Given the description of an element on the screen output the (x, y) to click on. 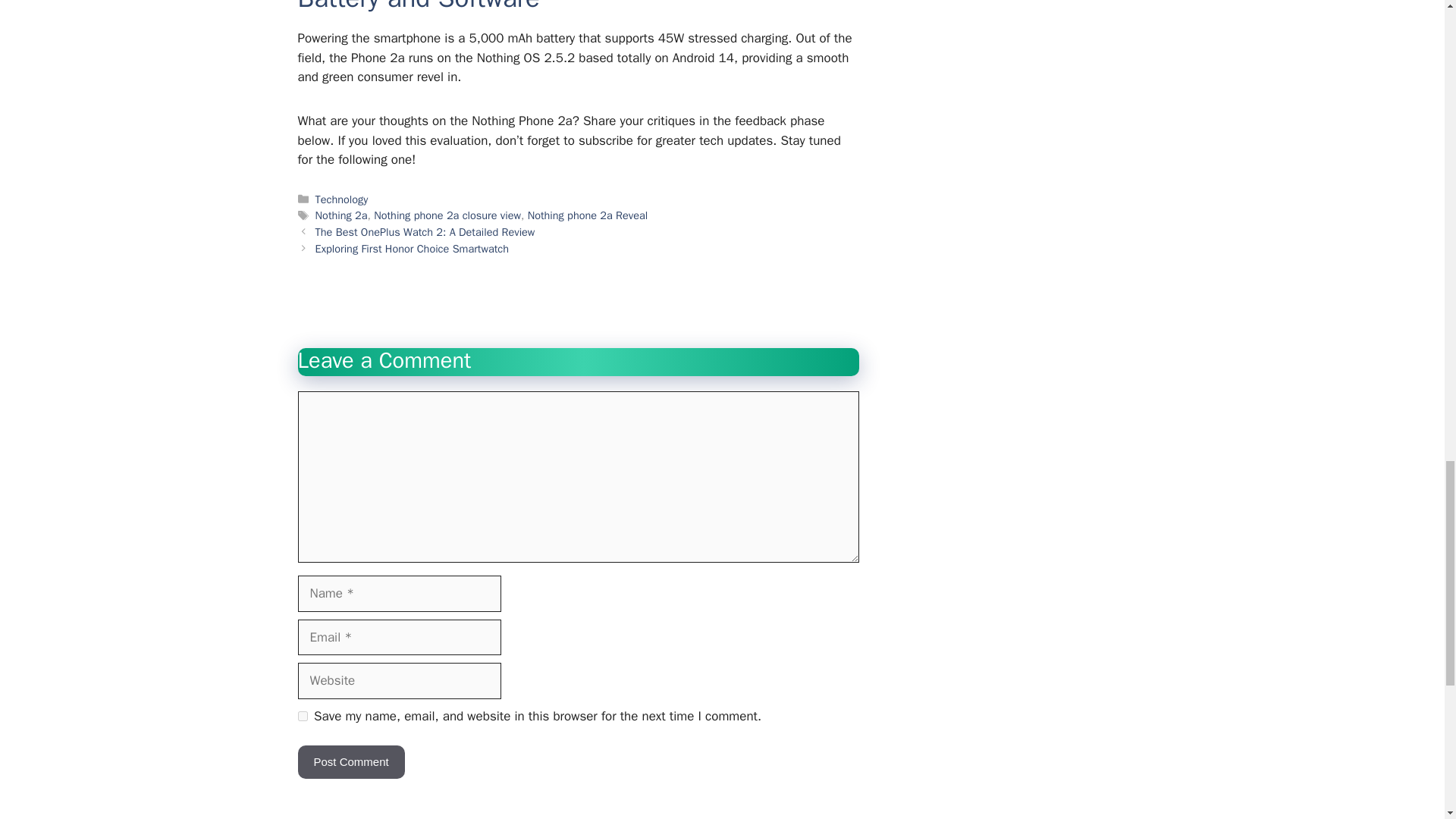
Post Comment (350, 762)
Nothing phone 2a Reveal (587, 214)
Technology (341, 199)
The Best OnePlus Watch 2: A Detailed Review (425, 232)
Exploring First Honor Choice Smartwatch (411, 248)
Post Comment (350, 762)
Nothing 2a (341, 214)
Nothing phone 2a closure view (447, 214)
yes (302, 716)
